Given the description of an element on the screen output the (x, y) to click on. 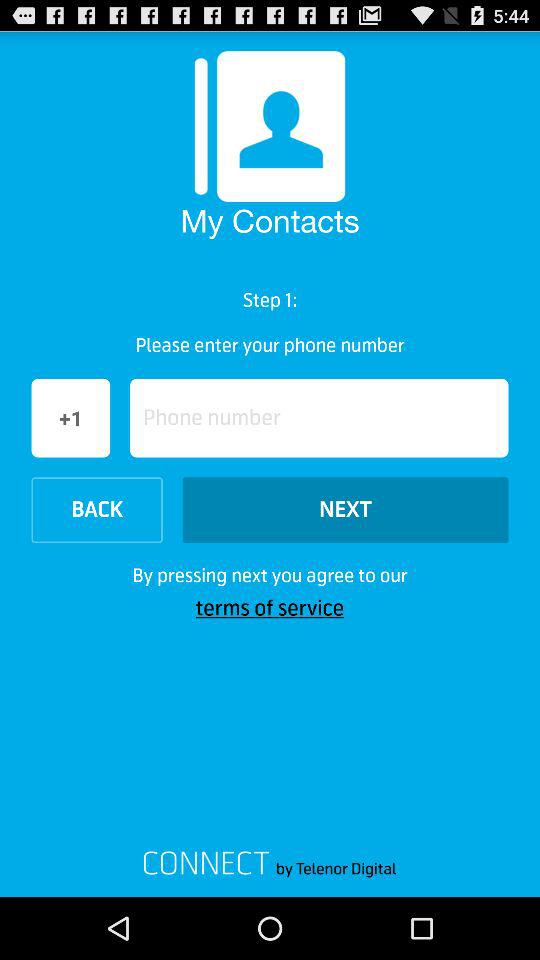
tap icon to the right of the +1 icon (319, 417)
